Given the description of an element on the screen output the (x, y) to click on. 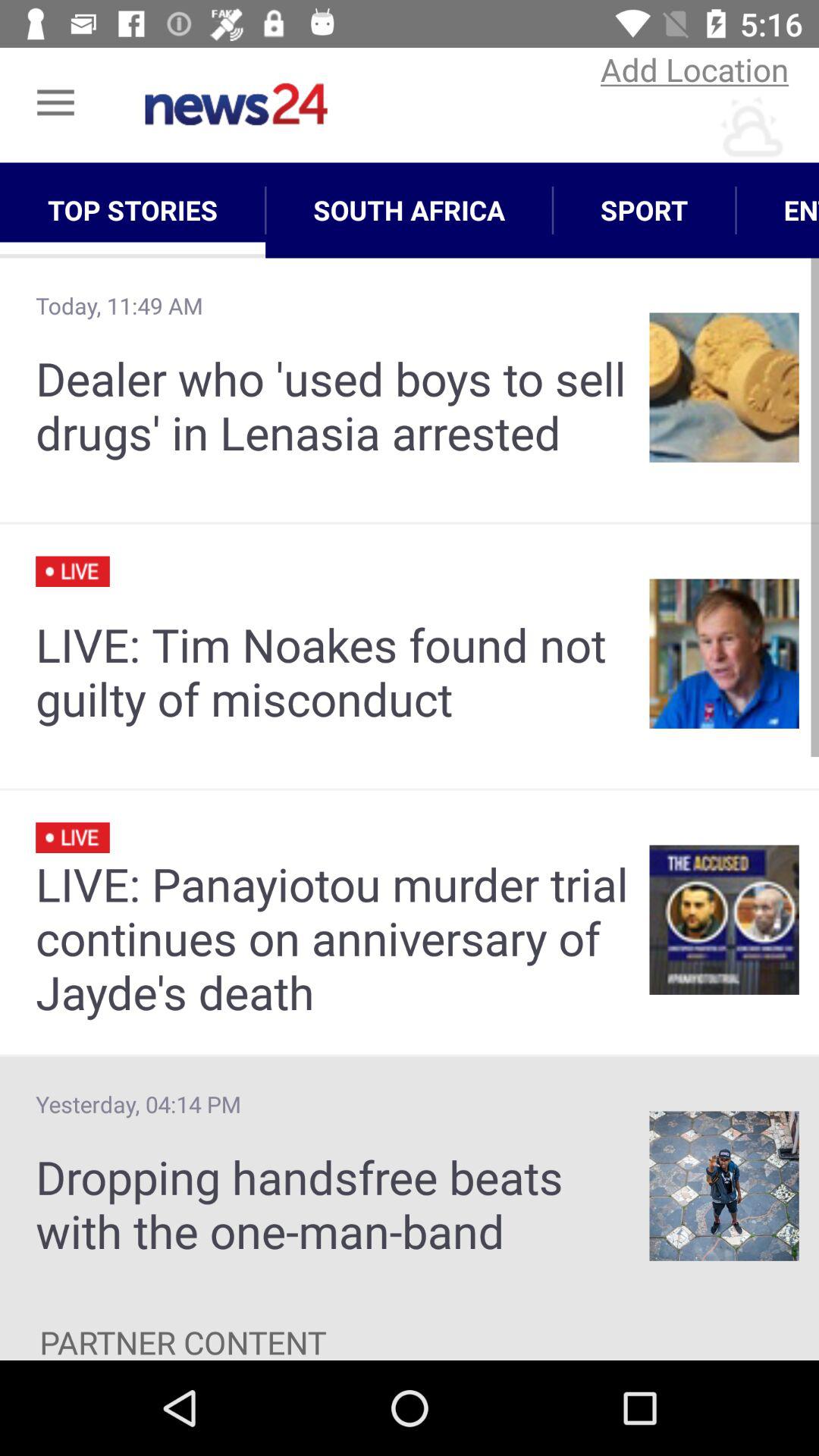
click top stories icon (132, 210)
